Given the description of an element on the screen output the (x, y) to click on. 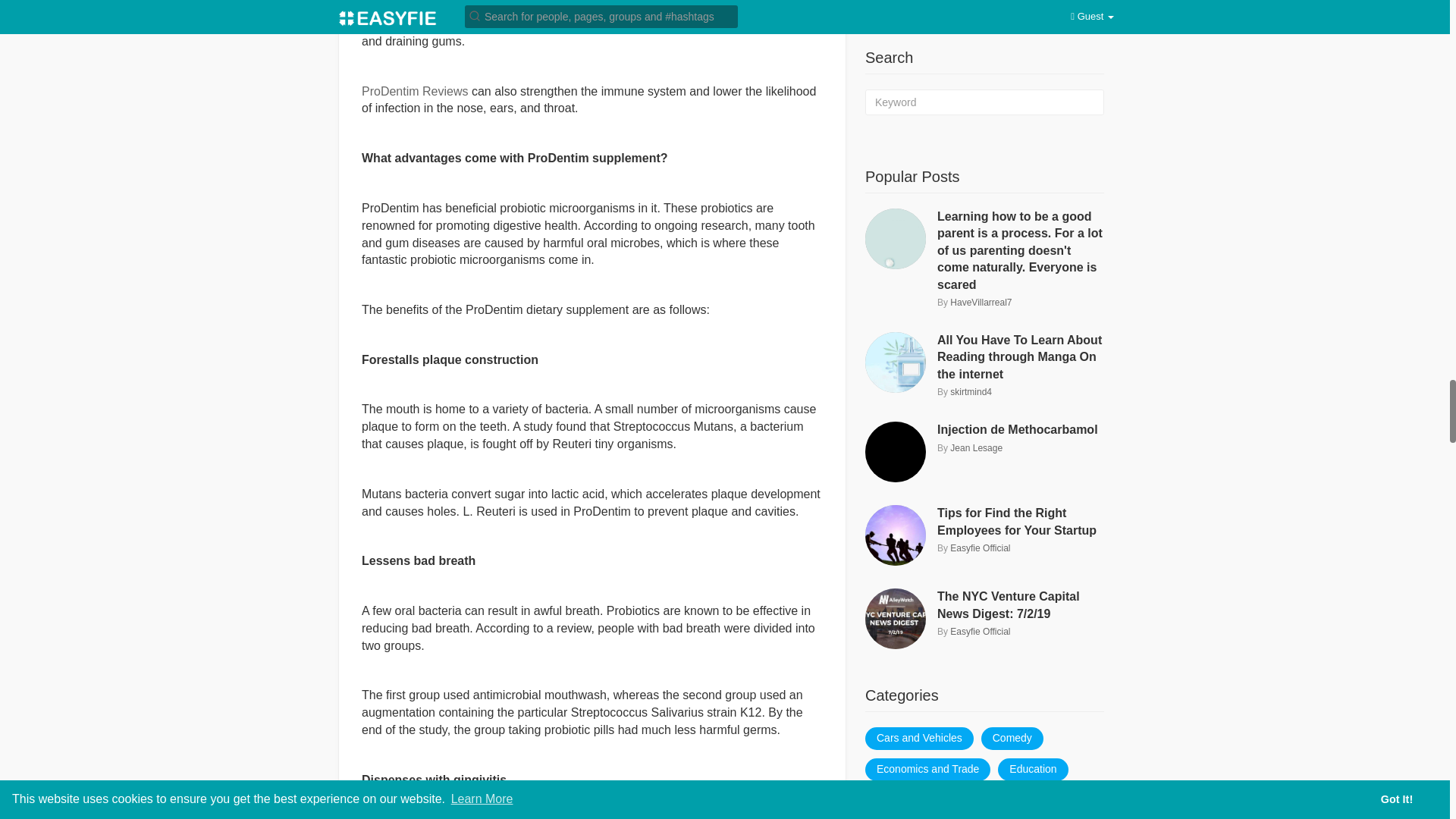
ProDentim Reviews (414, 91)
